Given the description of an element on the screen output the (x, y) to click on. 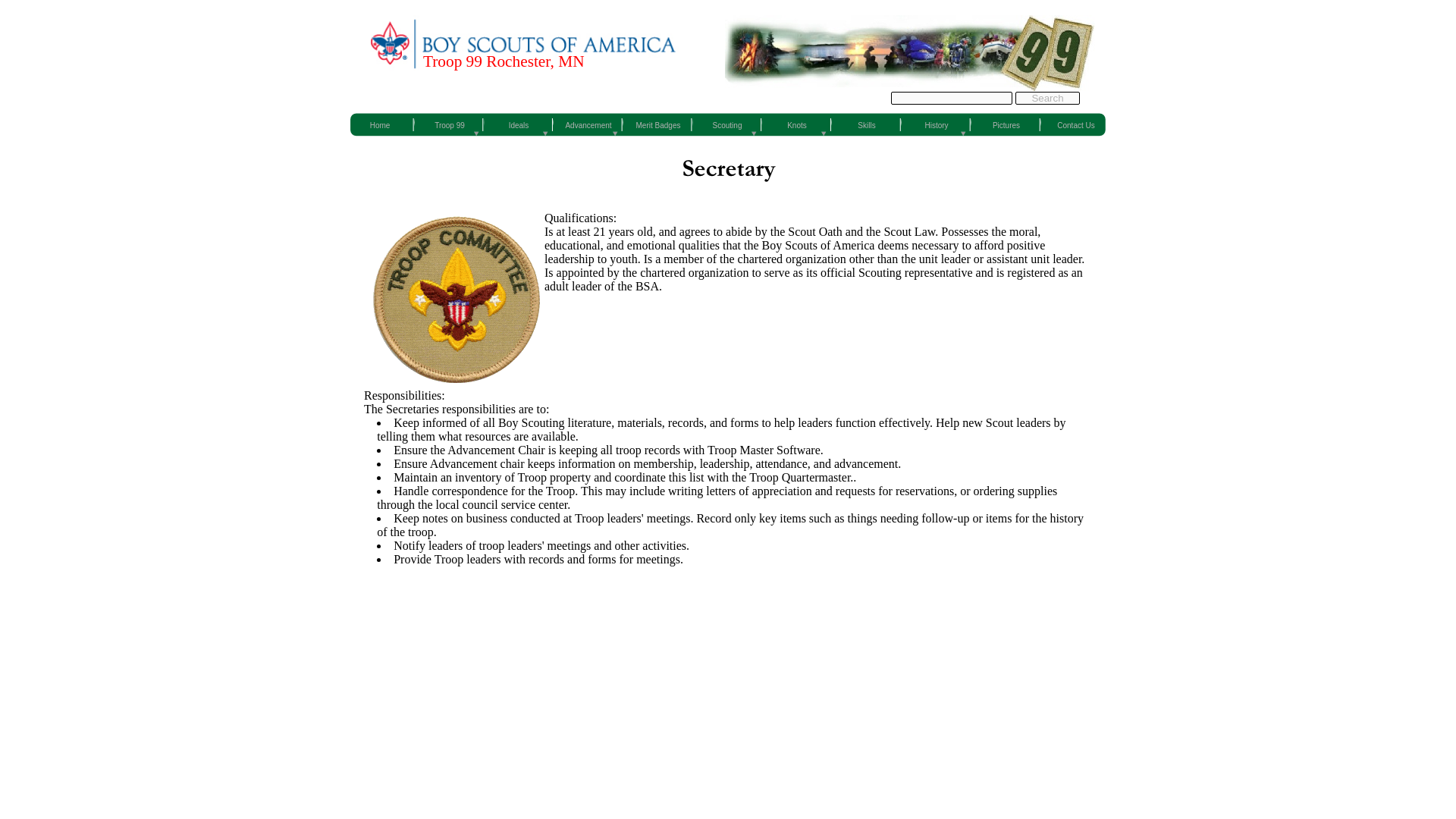
Knots (796, 124)
History (936, 124)
Skills (866, 124)
Contact Us (1075, 124)
Ideals (518, 124)
Advancement (588, 124)
Scouting (726, 124)
Search (1047, 97)
Home (379, 124)
Merit Badges (657, 124)
